Given the description of an element on the screen output the (x, y) to click on. 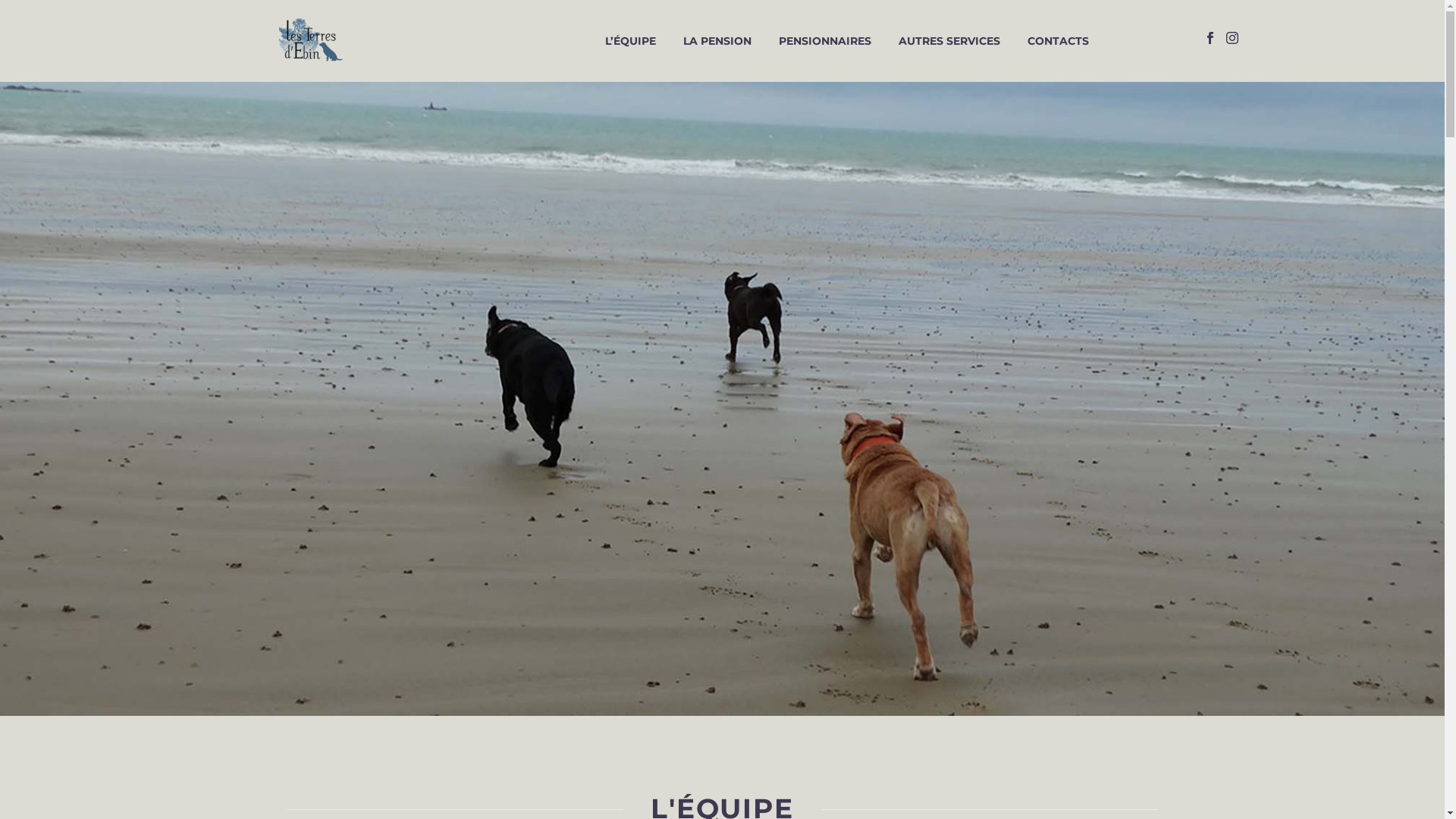
PENSIONNAIRES Element type: text (824, 40)
CONTACTS Element type: text (1058, 40)
AUTRES SERVICES Element type: text (949, 40)
LA PENSION Element type: text (716, 40)
